Given the description of an element on the screen output the (x, y) to click on. 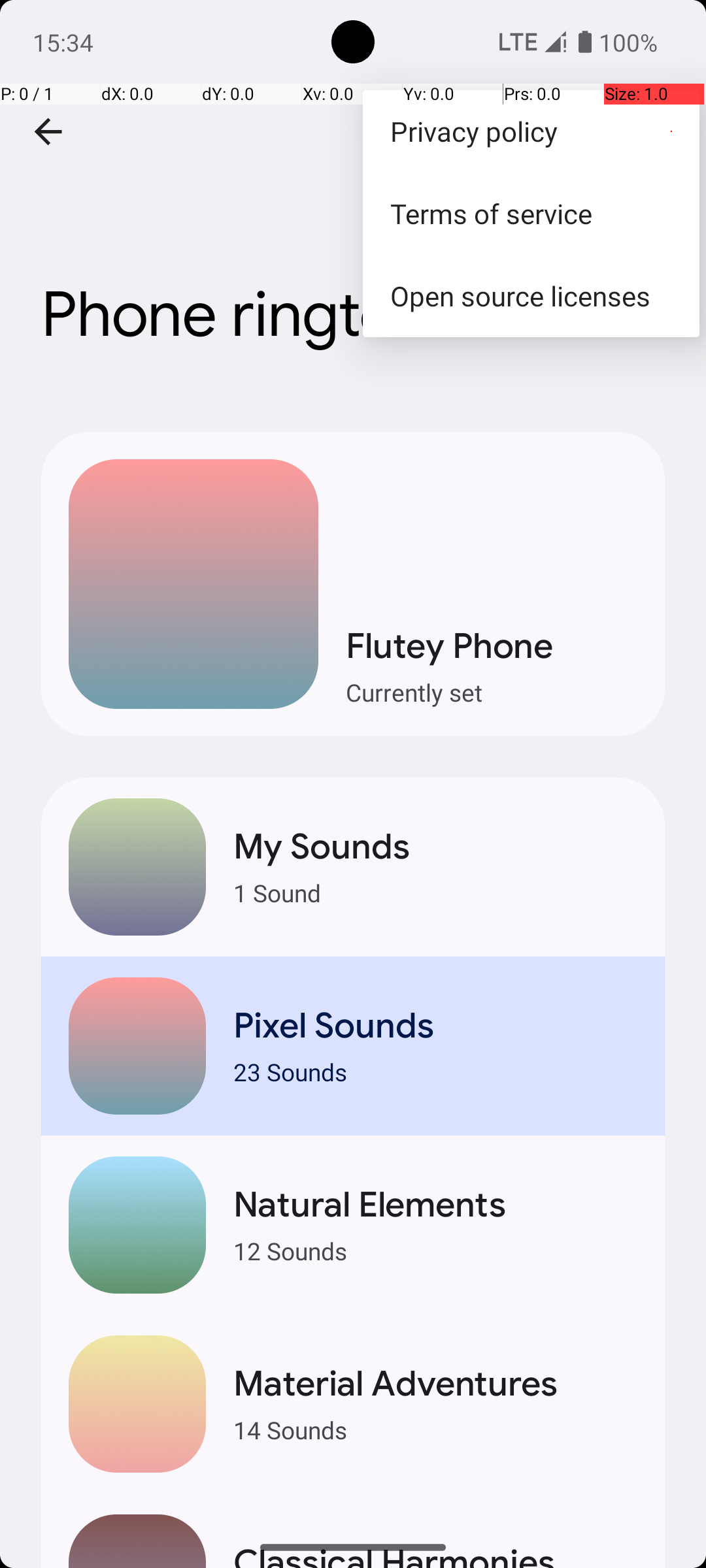
Terms of service Element type: android.widget.TextView (531, 212)
Open source licenses Element type: android.widget.TextView (531, 295)
